Given the description of an element on the screen output the (x, y) to click on. 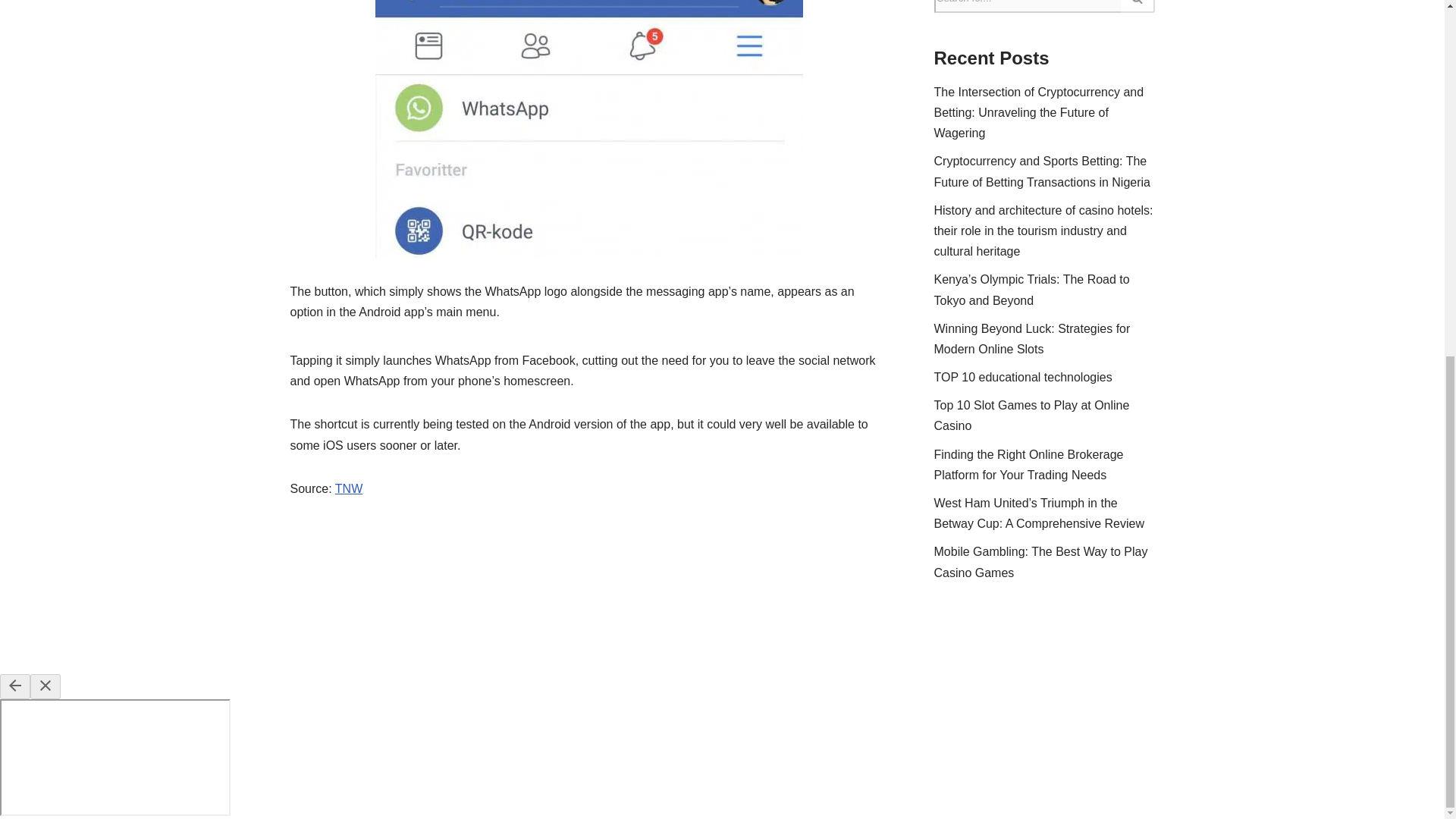
Top 10 Slot Games to Play at Online Casino (1031, 415)
TOP 10 educational technologies (1023, 377)
Mobile Gambling: The Best Way to Play Casino Games (1041, 561)
TNW (348, 488)
Winning Beyond Luck: Strategies for Modern Online Slots (1032, 338)
